Given the description of an element on the screen output the (x, y) to click on. 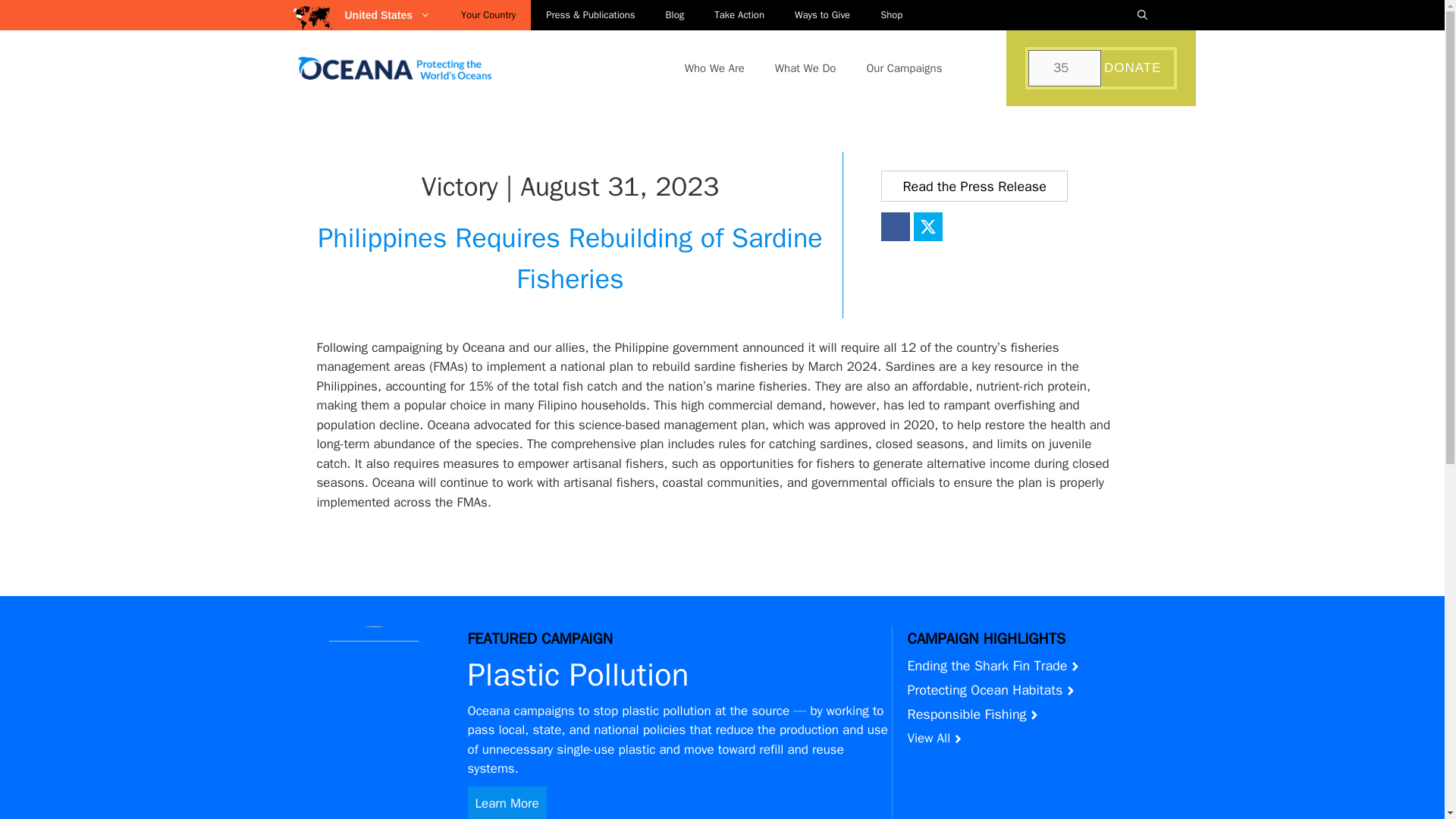
Protecting Ocean Habitats (984, 688)
Your Country (488, 15)
Ending the Shark Fin Trade (987, 664)
Read the Press Release (973, 185)
United States (394, 15)
Our Campaigns (903, 67)
DONATE (1133, 67)
Learn More (506, 802)
Shop (890, 15)
Blog (675, 15)
